Given the description of an element on the screen output the (x, y) to click on. 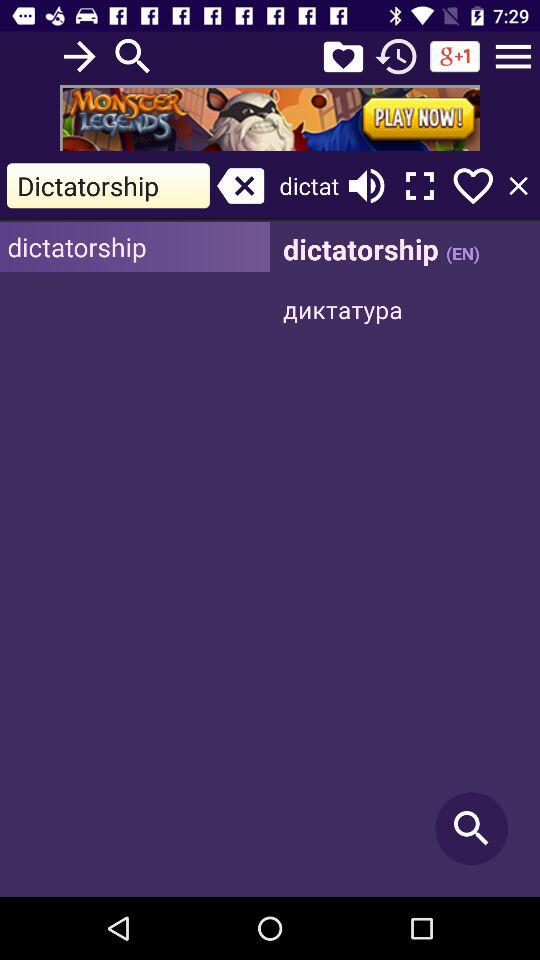
search (405, 559)
